Given the description of an element on the screen output the (x, y) to click on. 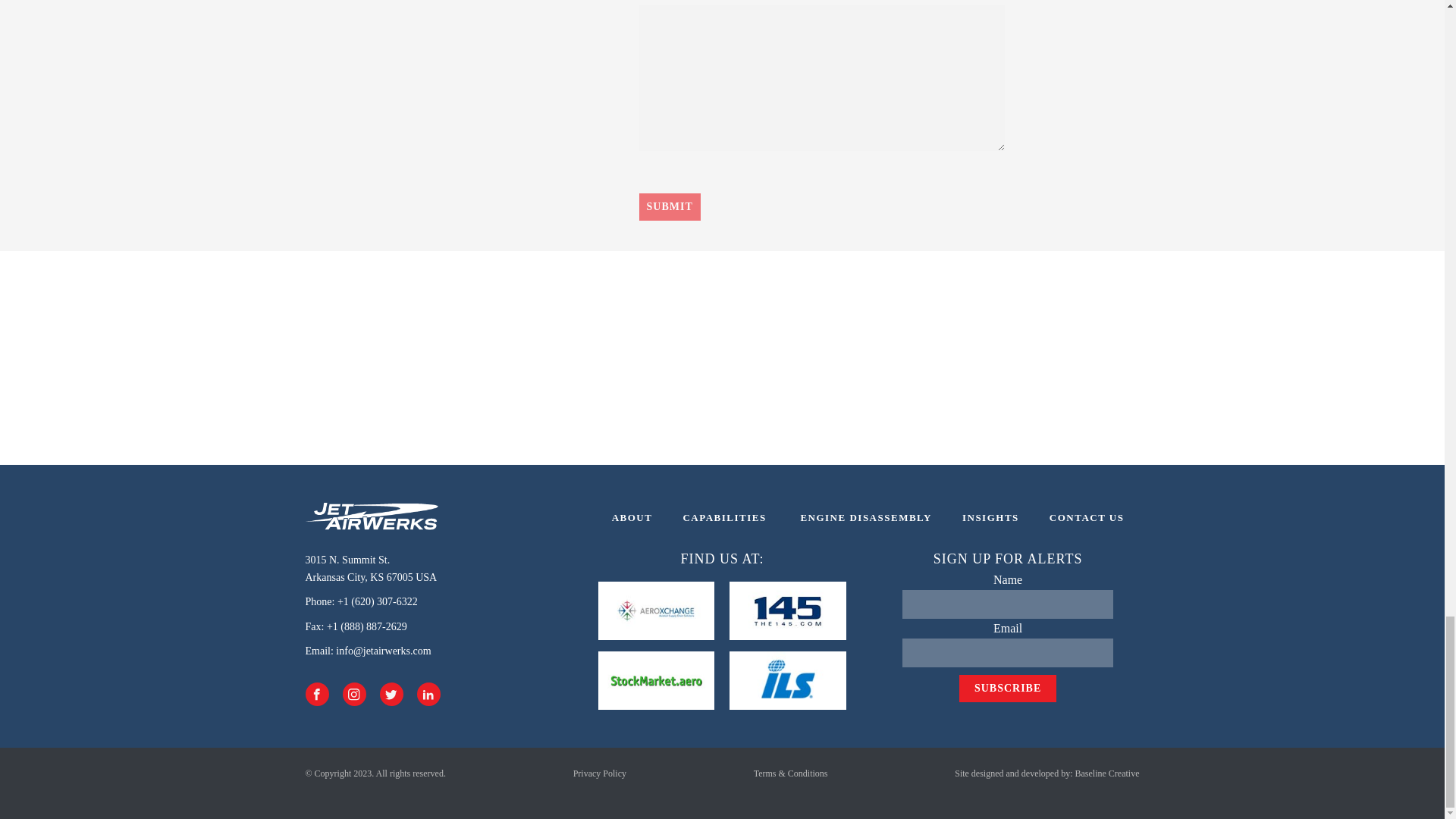
Submit (370, 569)
ABOUT (669, 206)
CONTACT US (632, 517)
INSIGHTS (1086, 517)
 ENGINE DISASSEMBLY (990, 517)
Submit (864, 517)
CAPABILITIES (669, 206)
